Given the description of an element on the screen output the (x, y) to click on. 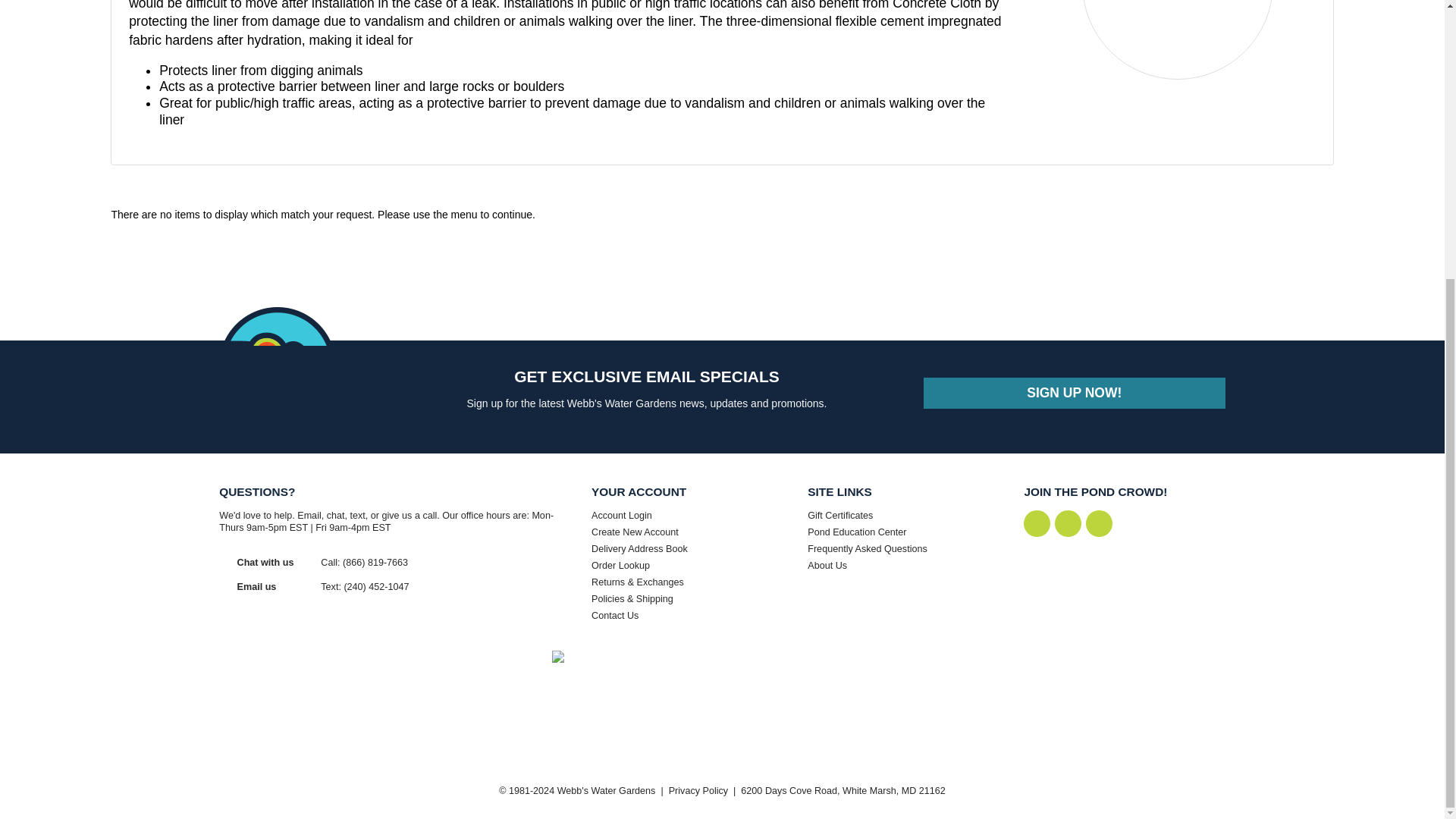
Email us (256, 586)
SIGN UP NOW! (1074, 392)
Create New Account (691, 532)
Account Login (691, 515)
Chat with us (265, 562)
Delivery Address Book (691, 549)
Order Lookup (691, 565)
